Given the description of an element on the screen output the (x, y) to click on. 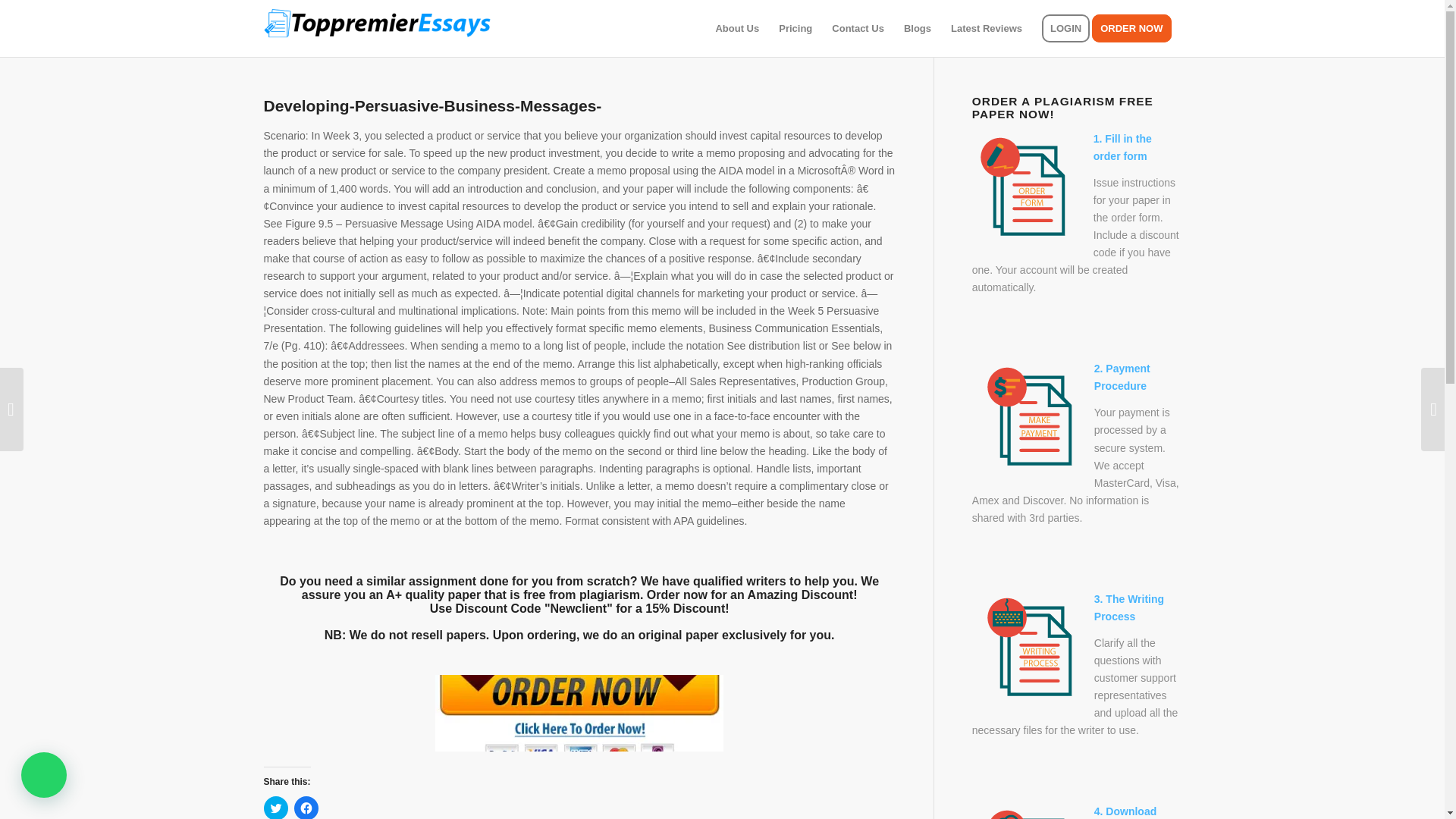
ORDER NOW (1136, 28)
LOGIN (1065, 28)
Developing-Persuasive-Business-Messages- (432, 105)
Click to share on Facebook (306, 807)
About Us (736, 28)
Click to share on Twitter (275, 807)
Contact Us (857, 28)
Pricing (795, 28)
Latest Reviews (986, 28)
Blogs (916, 28)
Permanent Link: Developing-Persuasive-Business-Messages- (432, 105)
